Given the description of an element on the screen output the (x, y) to click on. 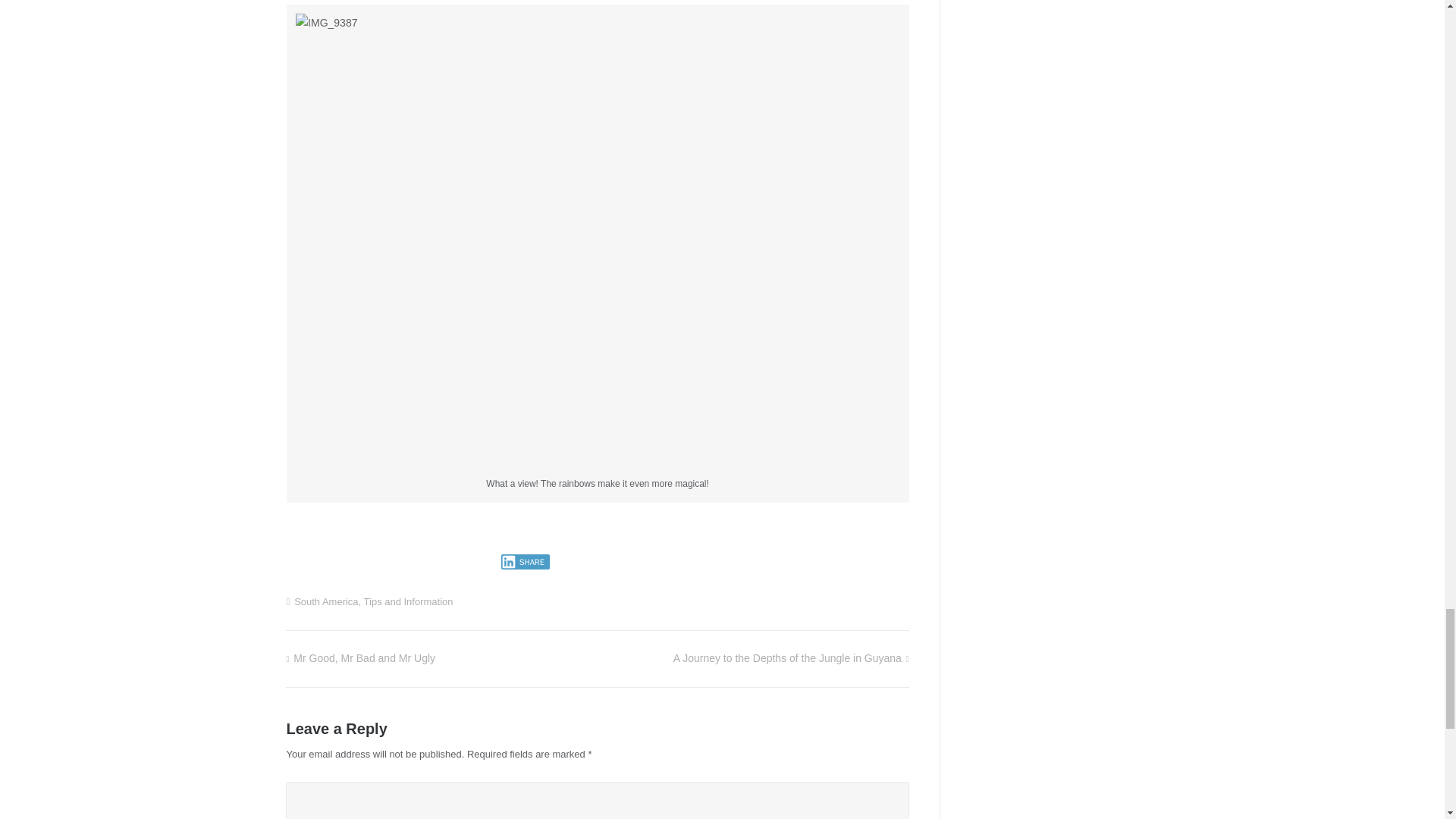
A Journey to the Depths of the Jungle in Guyana (790, 657)
SHARE (525, 561)
Mr Good, Mr Bad and Mr Ugly (360, 657)
South America (326, 601)
Tips and Information (408, 601)
